Given the description of an element on the screen output the (x, y) to click on. 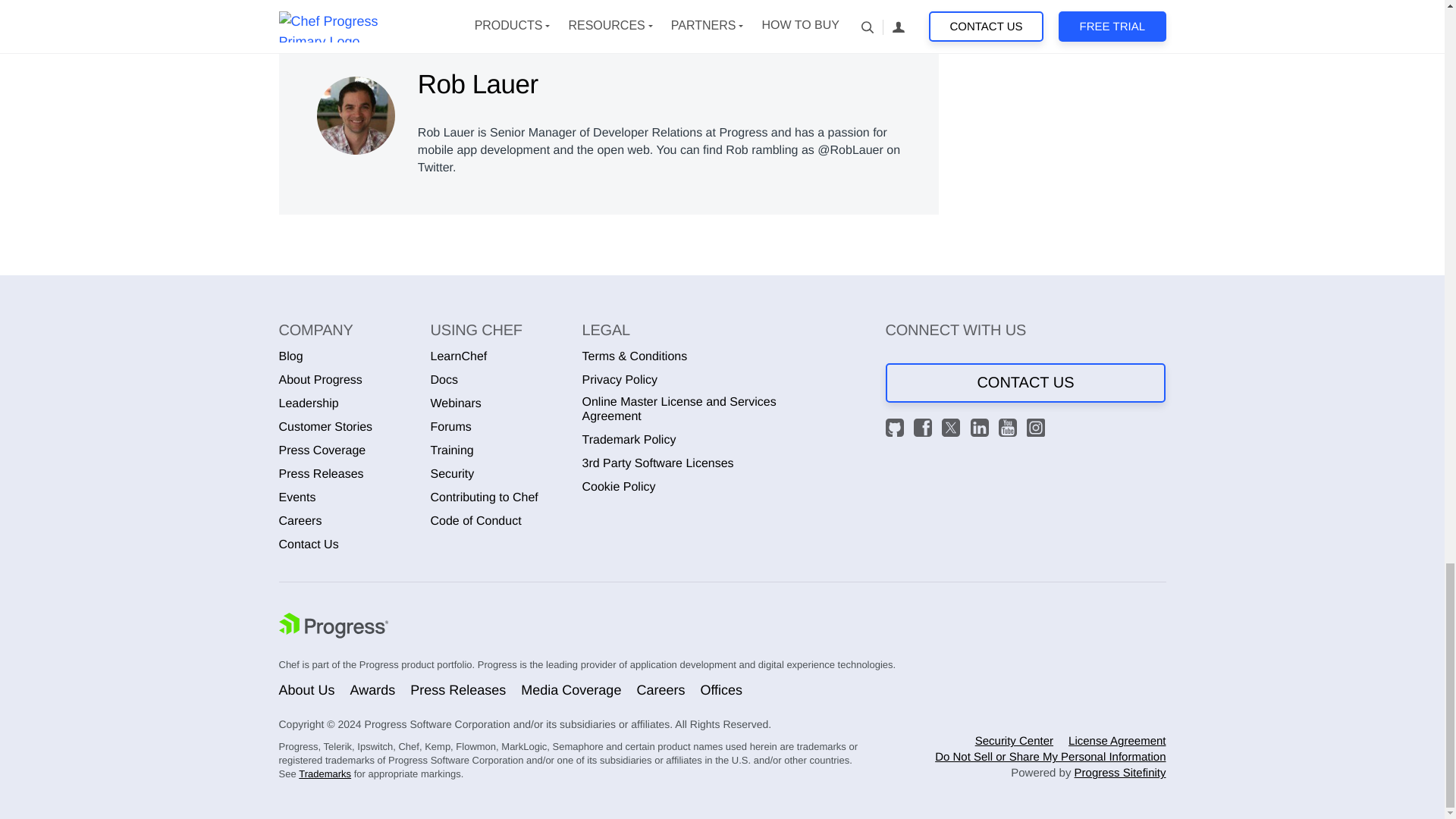
Rob Lauer (355, 111)
Progress-logo (333, 627)
Rob Lauer (355, 115)
